Given the description of an element on the screen output the (x, y) to click on. 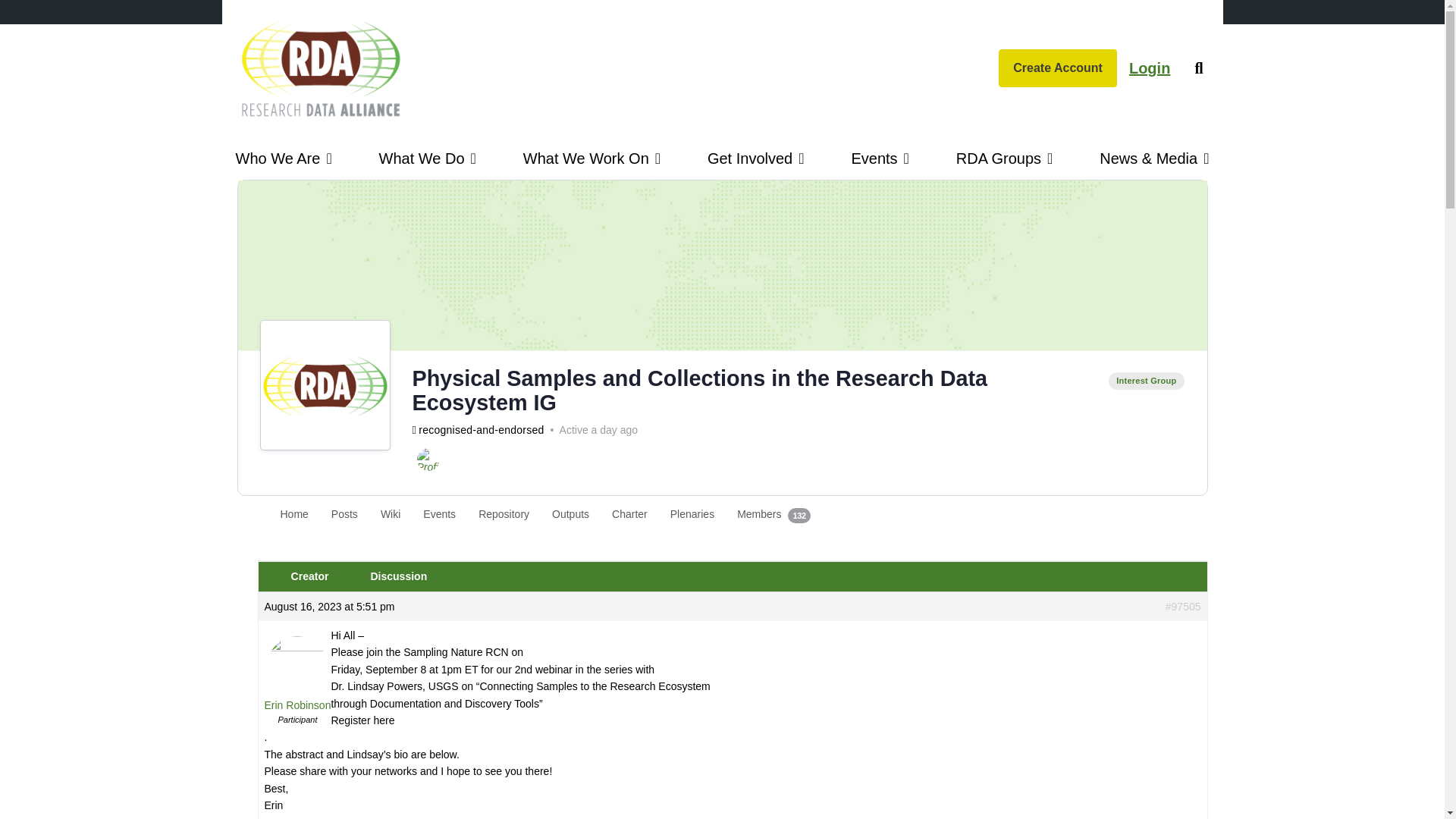
Login (1149, 67)
Create Account (1057, 67)
View Erin Robinson's profile (296, 683)
